Given the description of an element on the screen output the (x, y) to click on. 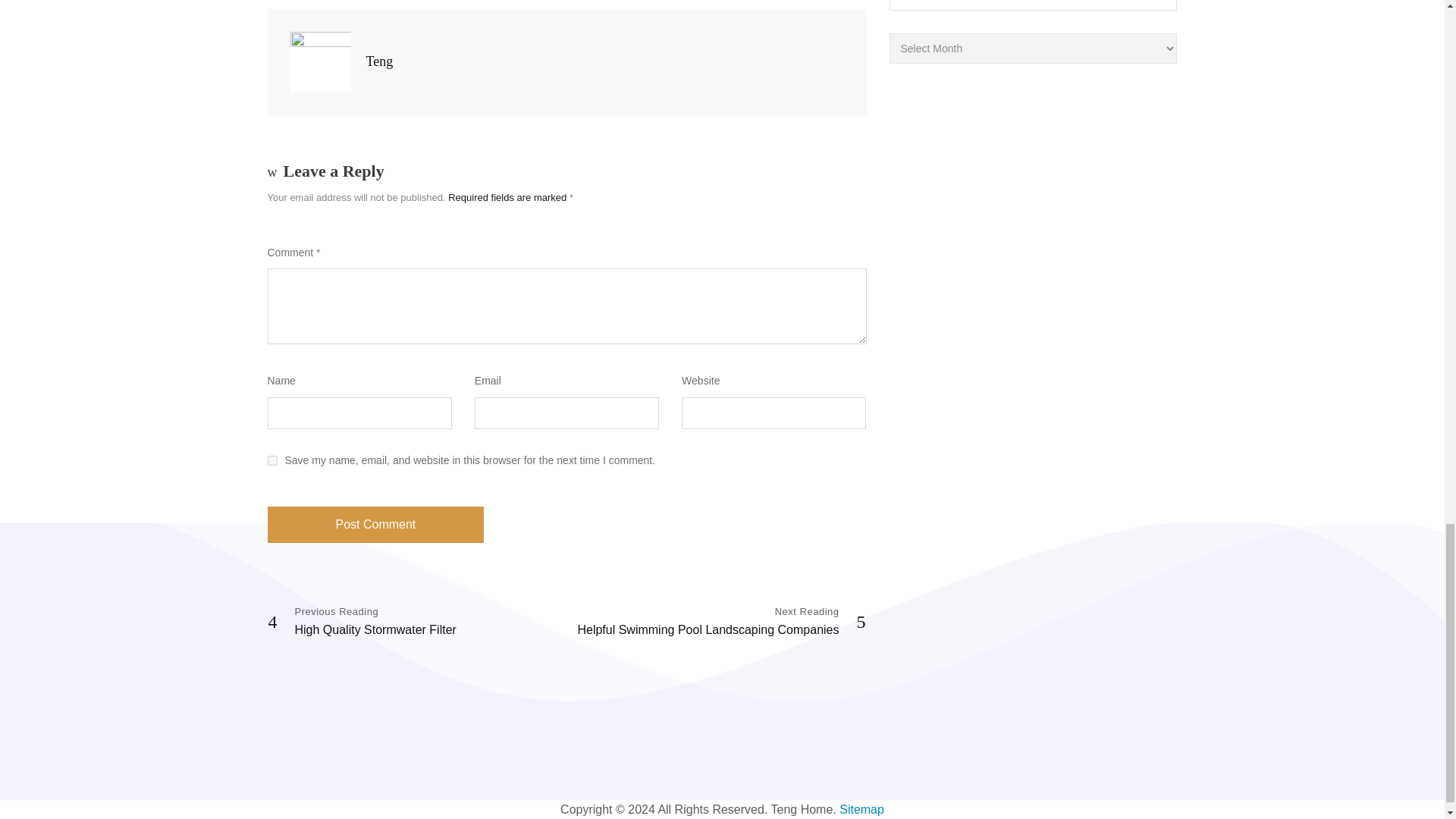
Sitemap (861, 809)
Post Comment (374, 524)
yes (271, 460)
Post Comment (362, 621)
